Given the description of an element on the screen output the (x, y) to click on. 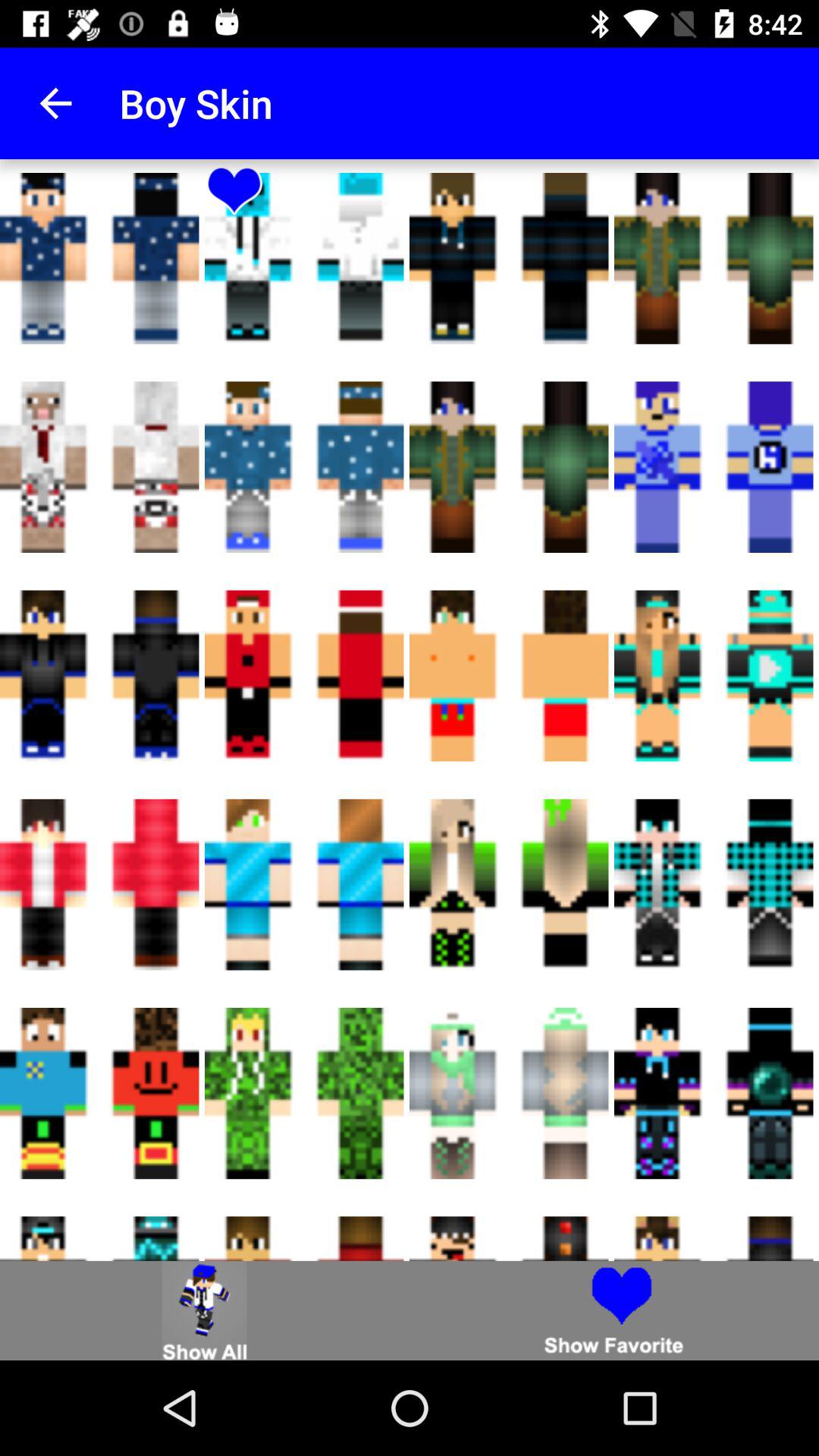
this new version is used for anyone who would like a new style that works for an individual (204, 1310)
